Given the description of an element on the screen output the (x, y) to click on. 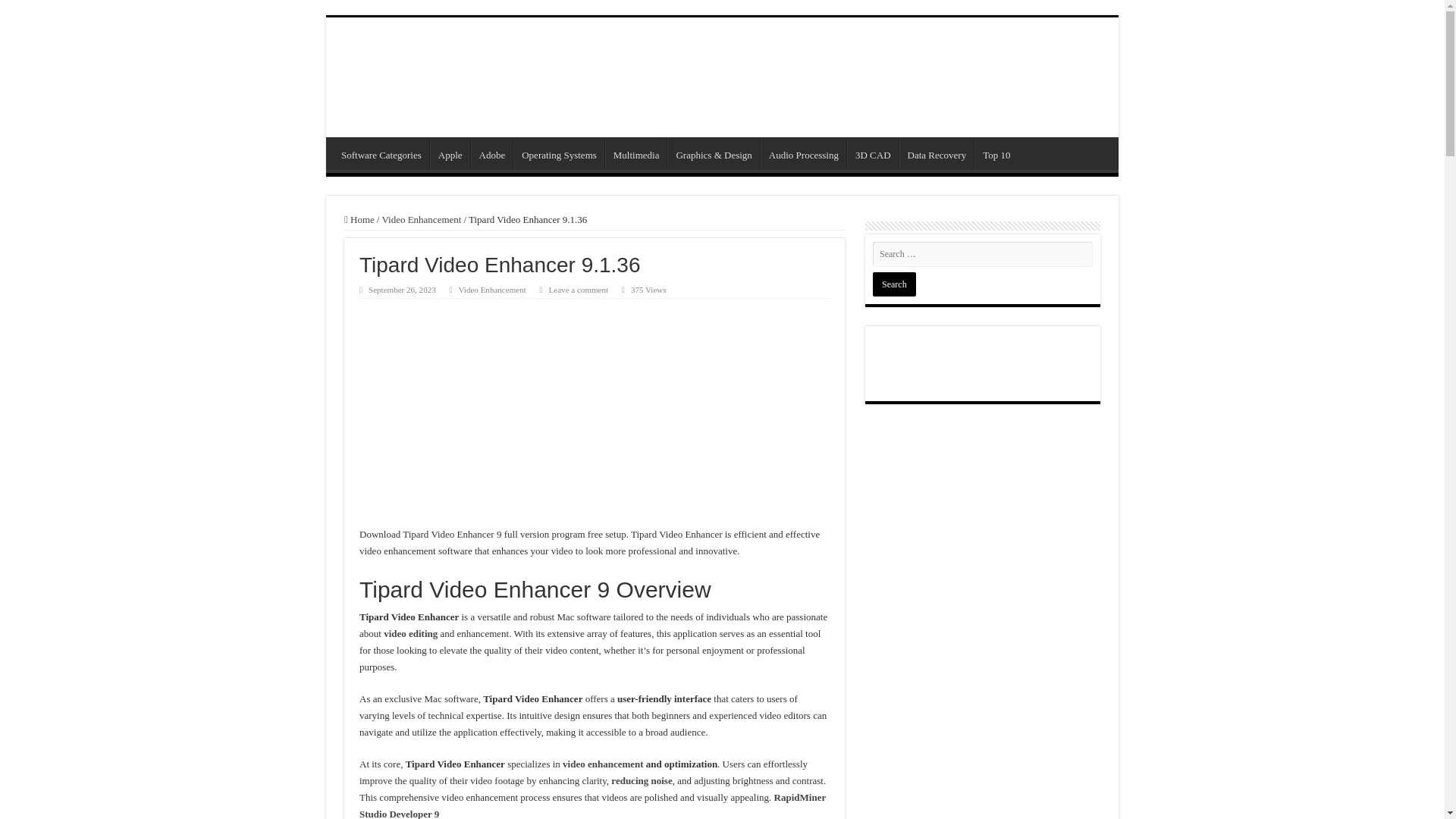
Search (893, 283)
Operating Systems (558, 152)
Audio Processing (802, 152)
Video Enhancement (491, 289)
Multimedia (635, 152)
Leave a comment (578, 289)
Video Enhancement (421, 219)
Adobe (491, 152)
Search (893, 283)
Apple (449, 152)
AllMacWorlds (464, 74)
Top 10 (995, 152)
reducing noise (641, 780)
Data Recovery (936, 152)
video editing (411, 633)
